Given the description of an element on the screen output the (x, y) to click on. 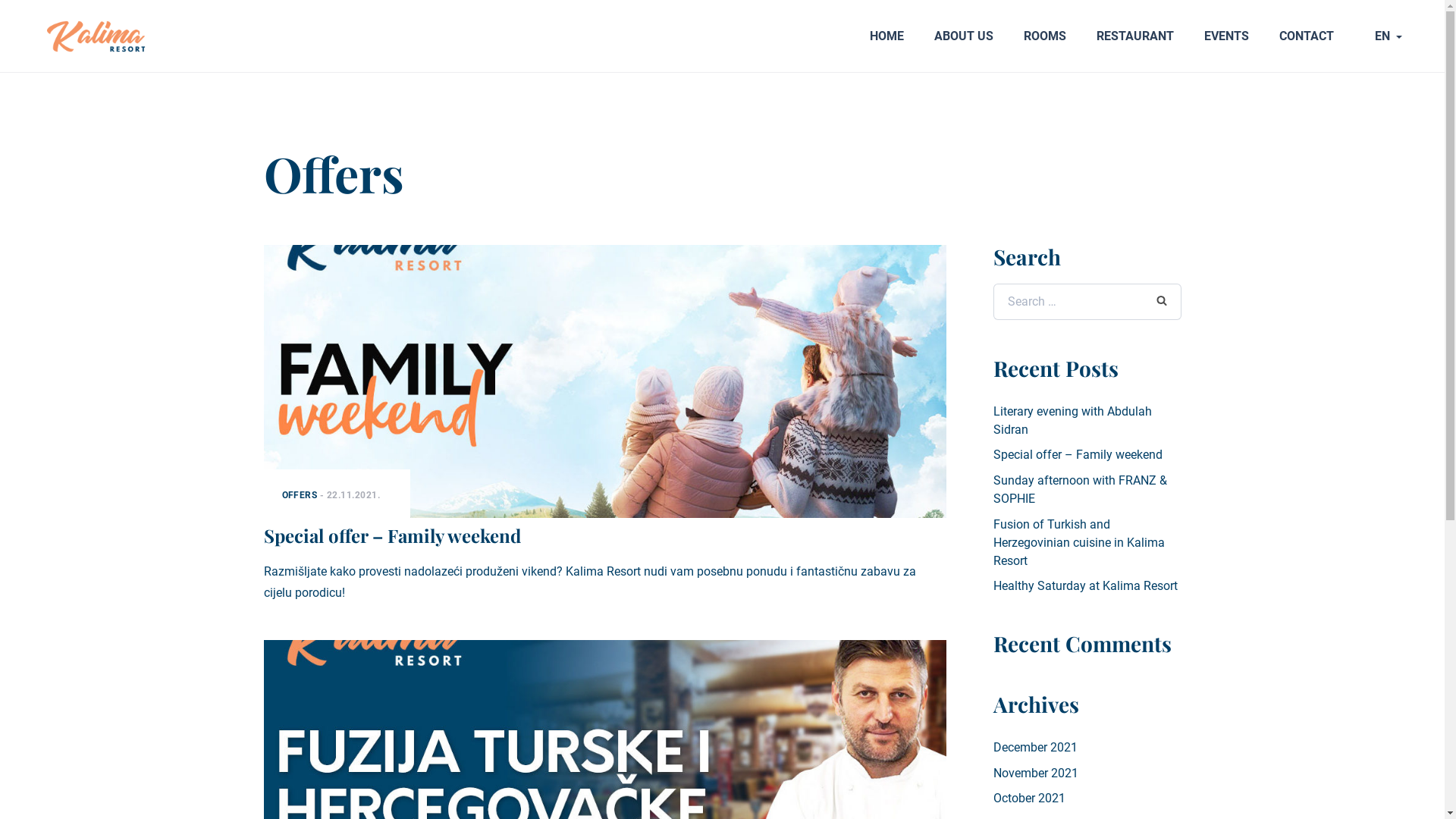
Fusion of Turkish and Herzegovinian cuisine in Kalima Resort Element type: text (1078, 542)
OFFERS - 22.11.2021. Element type: text (604, 380)
Sunday afternoon with FRANZ & SOPHIE Element type: text (1080, 489)
EN Element type: text (1388, 36)
EVENTS Element type: text (1226, 36)
Literary evening with Abdulah Sidran Element type: text (1072, 420)
HOME Element type: text (886, 36)
ABOUT US Element type: text (963, 36)
November 2021 Element type: text (1035, 772)
Healthy Saturday at Kalima Resort Element type: text (1085, 585)
ROOMS Element type: text (1044, 36)
Search Element type: text (1160, 299)
RESTAURANT Element type: text (1134, 36)
CONTACT Element type: text (1306, 36)
October 2021 Element type: text (1029, 797)
December 2021 Element type: text (1035, 747)
